Given the description of an element on the screen output the (x, y) to click on. 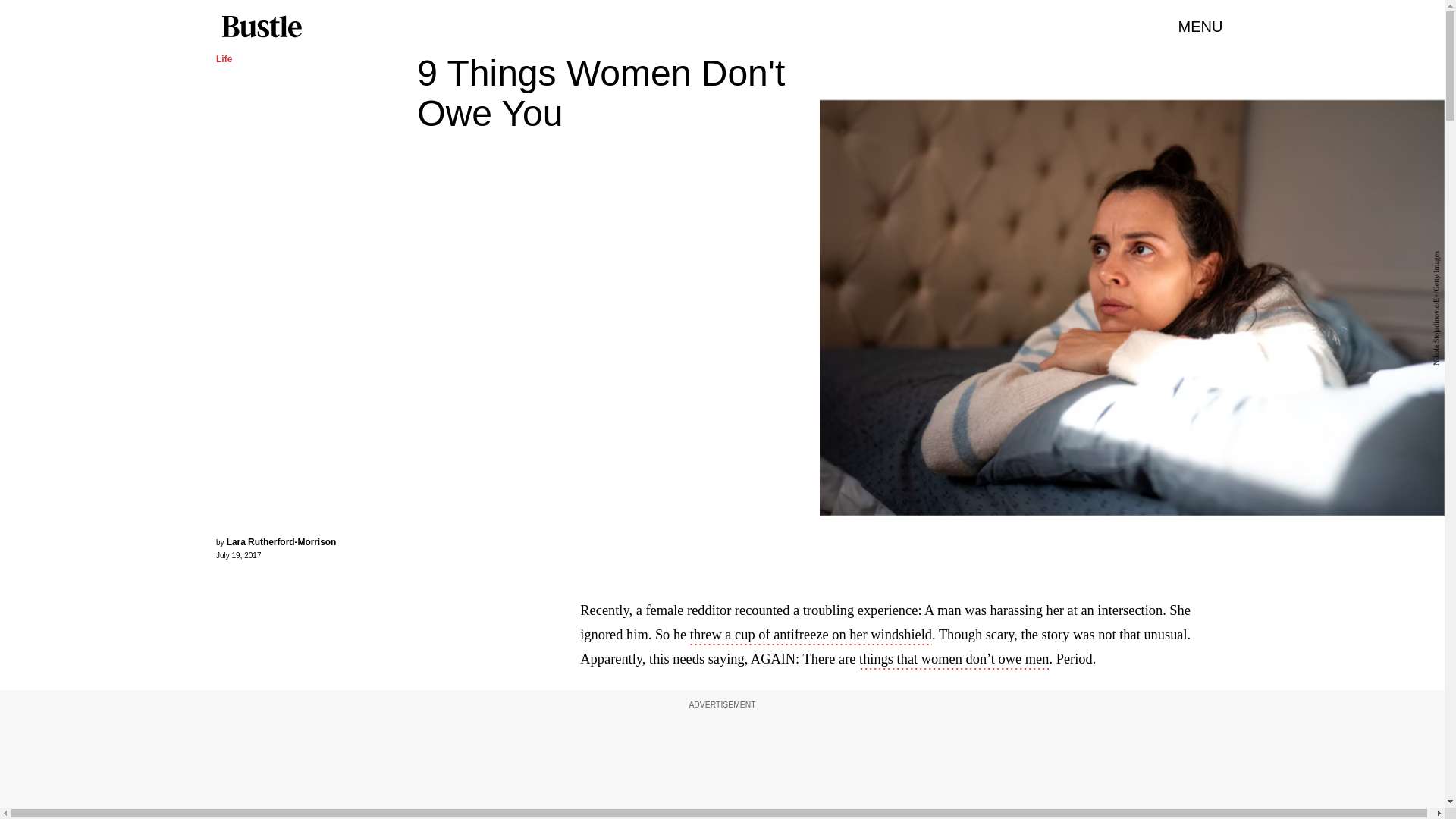
threw a cup of antifreeze on her windshield (810, 636)
Bustle (261, 26)
